Given the description of an element on the screen output the (x, y) to click on. 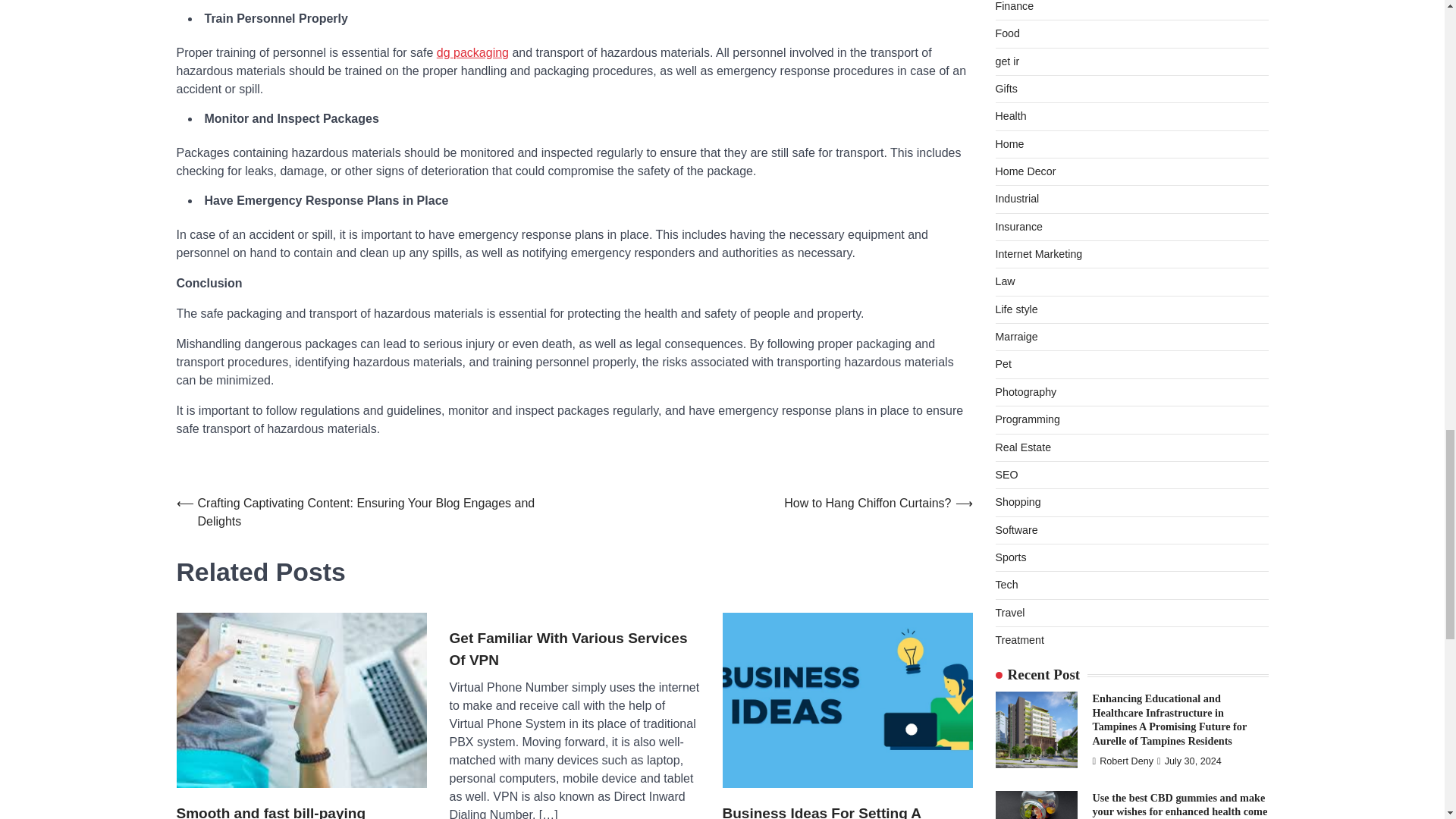
Business Ideas For Setting A Business In UAE (847, 811)
dg packaging (472, 51)
Get Familiar With Various Services Of VPN (573, 649)
